Given the description of an element on the screen output the (x, y) to click on. 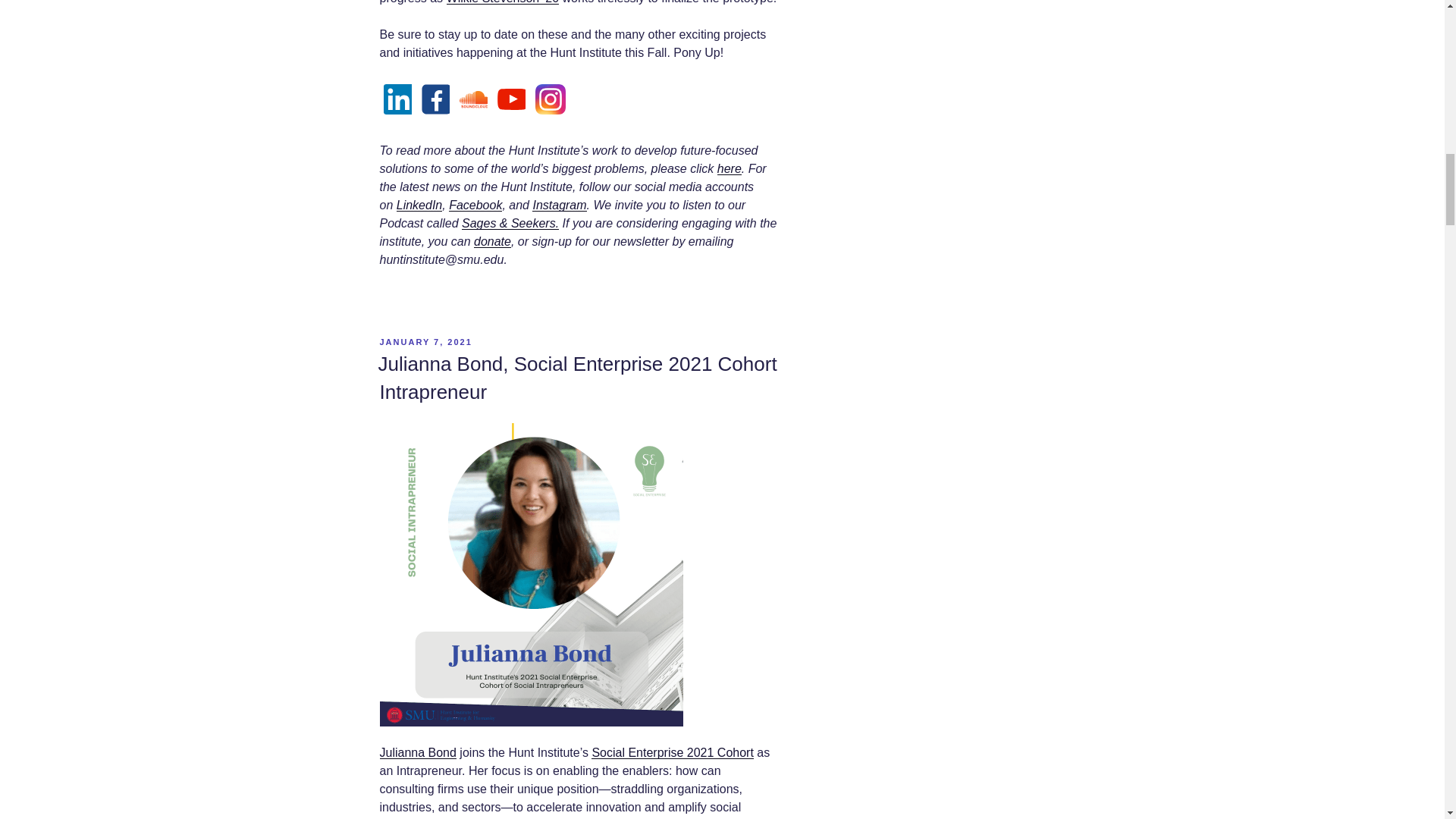
Instagram (559, 205)
Facebook (475, 205)
LinkedIn (419, 205)
here (729, 168)
donate (492, 241)
